Given the description of an element on the screen output the (x, y) to click on. 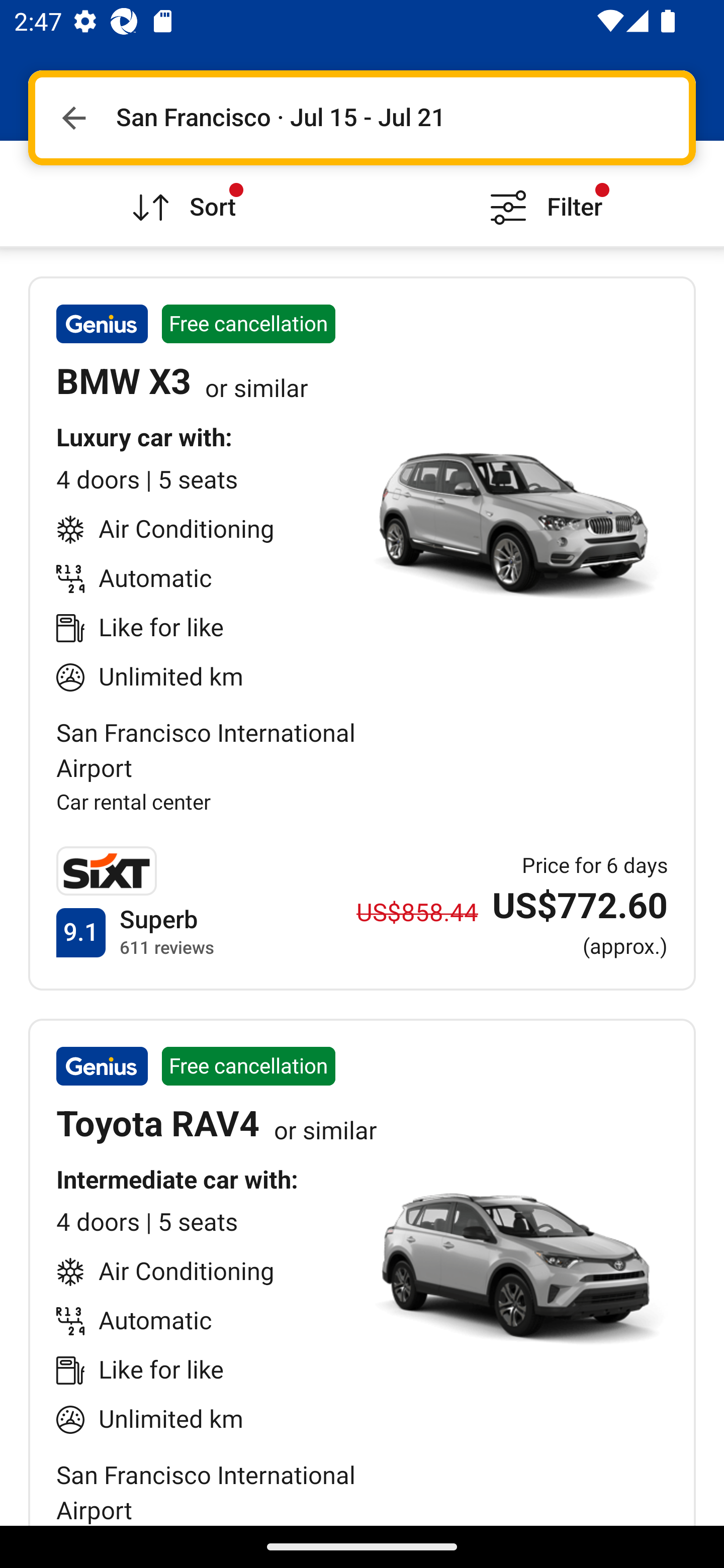
Back to previous screen (73, 117)
Sort (181, 193)
Filter (543, 193)
